Given the description of an element on the screen output the (x, y) to click on. 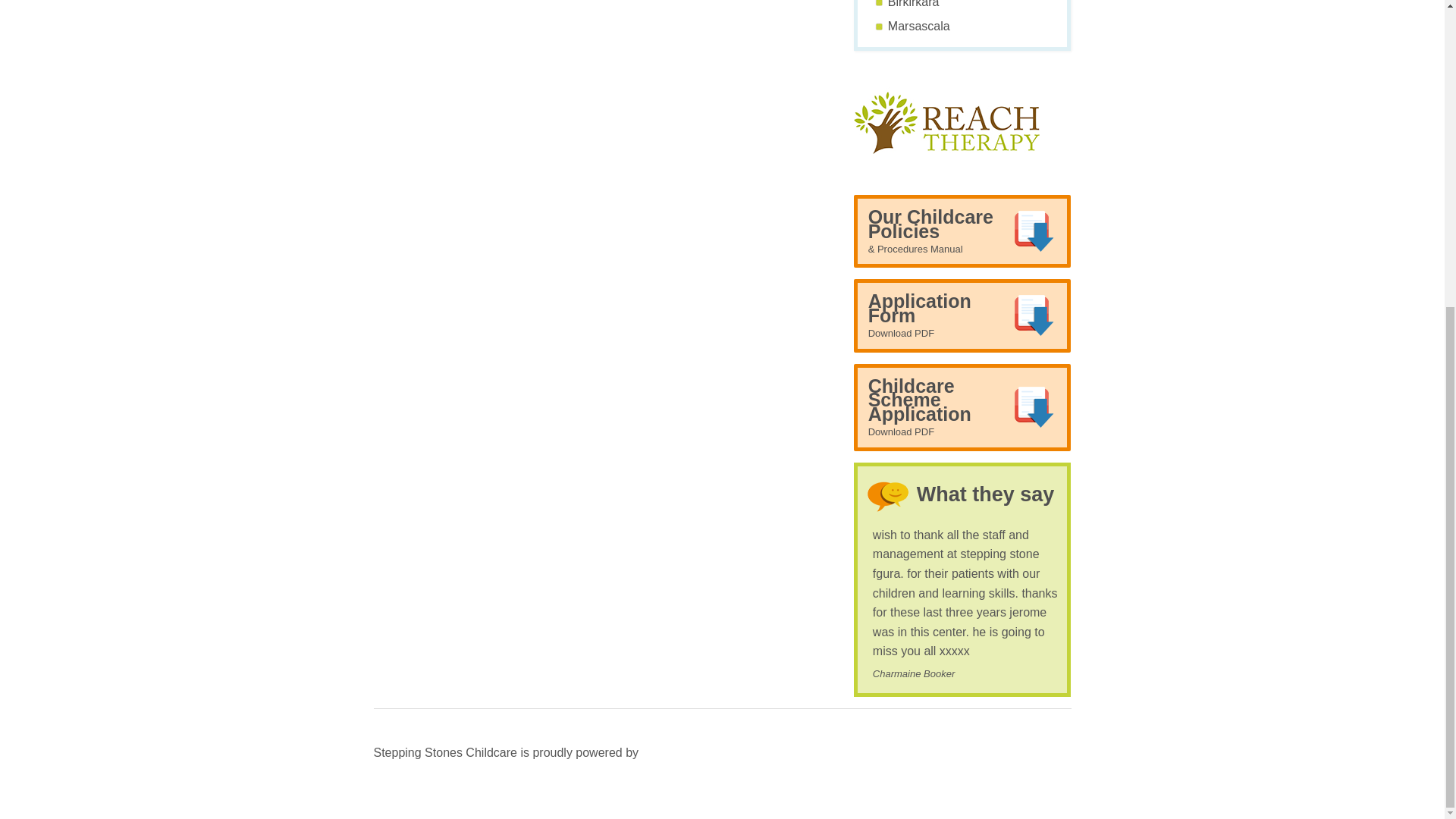
Birkirkara (962, 407)
What they say (913, 4)
Marsascala (985, 494)
WordPress (962, 315)
